Given the description of an element on the screen output the (x, y) to click on. 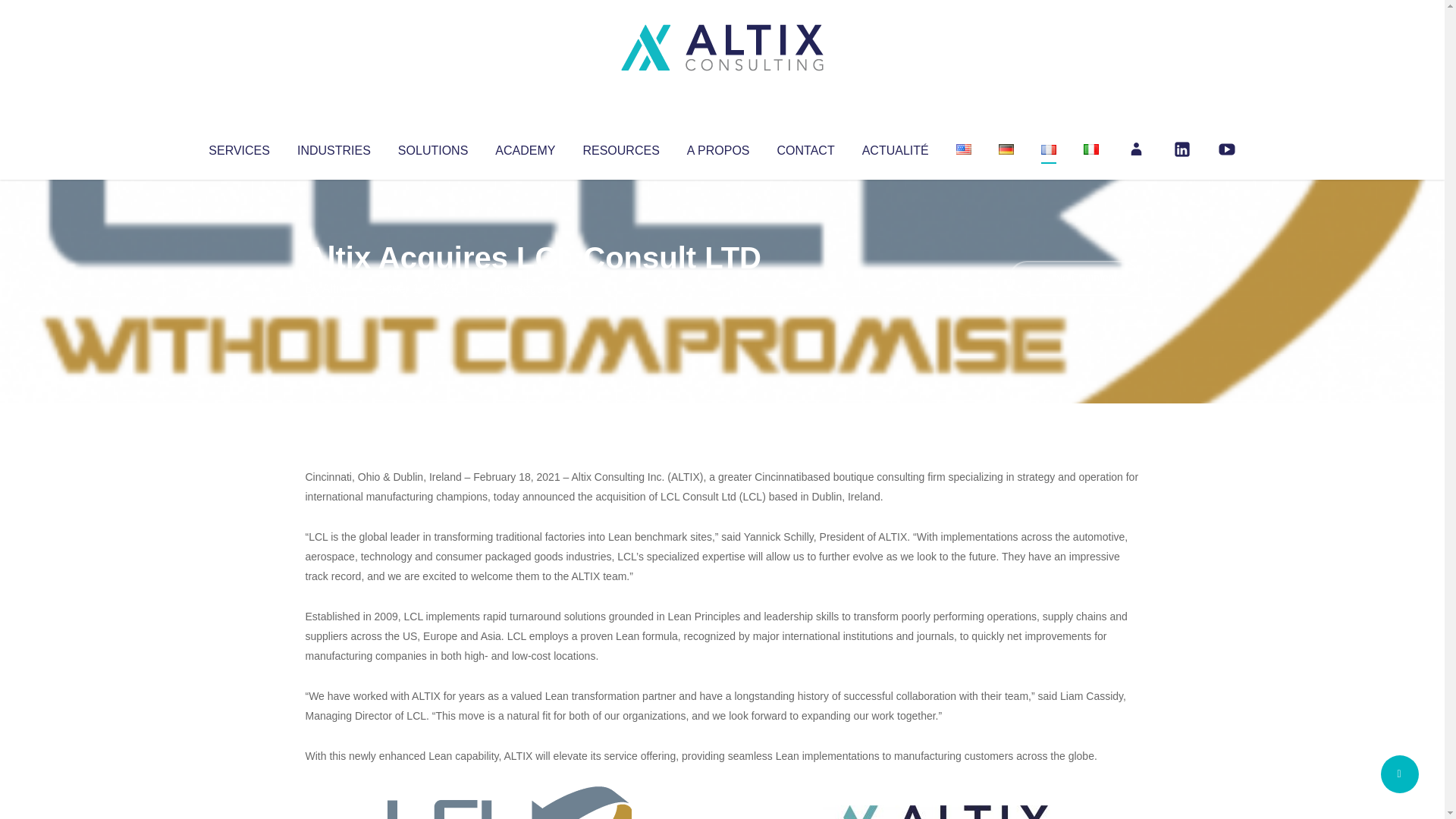
RESOURCES (620, 146)
Uncategorized (530, 287)
A PROPOS (718, 146)
No Comments (1073, 278)
INDUSTRIES (334, 146)
Altix (333, 287)
SERVICES (238, 146)
SOLUTIONS (432, 146)
Articles par Altix (333, 287)
ACADEMY (524, 146)
